Given the description of an element on the screen output the (x, y) to click on. 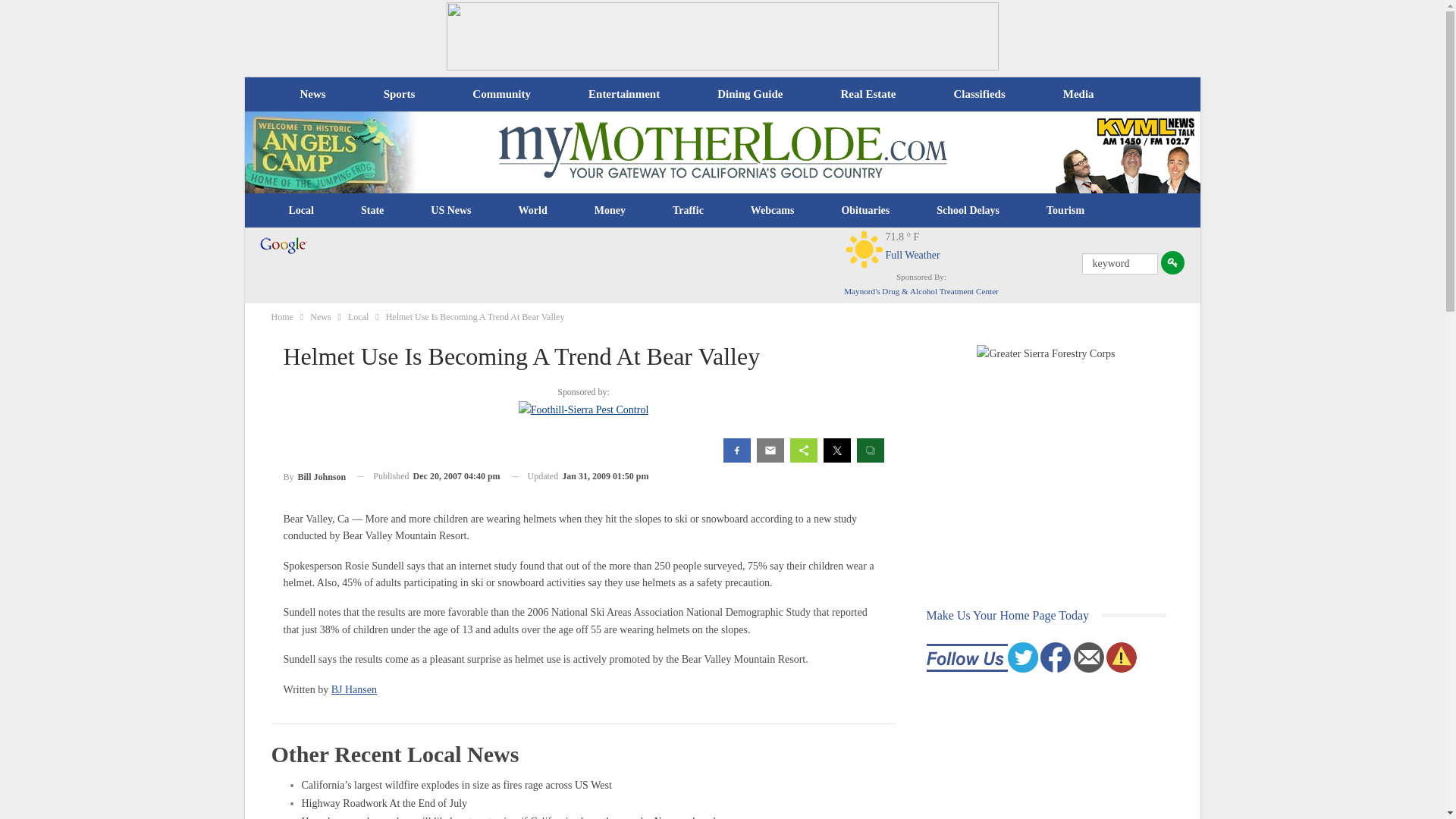
Media (1078, 93)
US News (451, 210)
World (532, 210)
Sports (399, 93)
Community (501, 93)
Entertainment (624, 93)
Real Estate (868, 93)
State (372, 210)
Obituaries (865, 210)
School Delays (967, 210)
Classifieds (979, 93)
Webcams (772, 210)
